Given the description of an element on the screen output the (x, y) to click on. 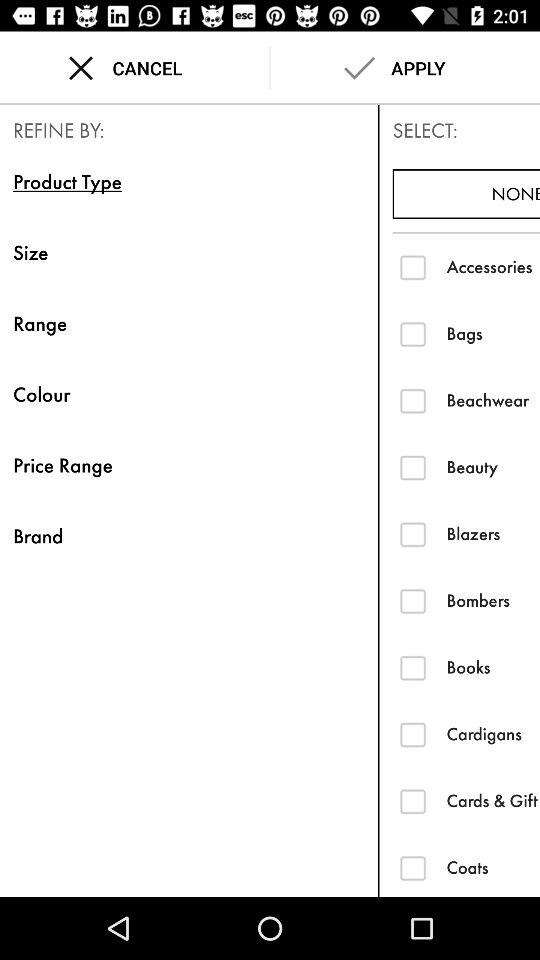
check accessories (412, 266)
